Given the description of an element on the screen output the (x, y) to click on. 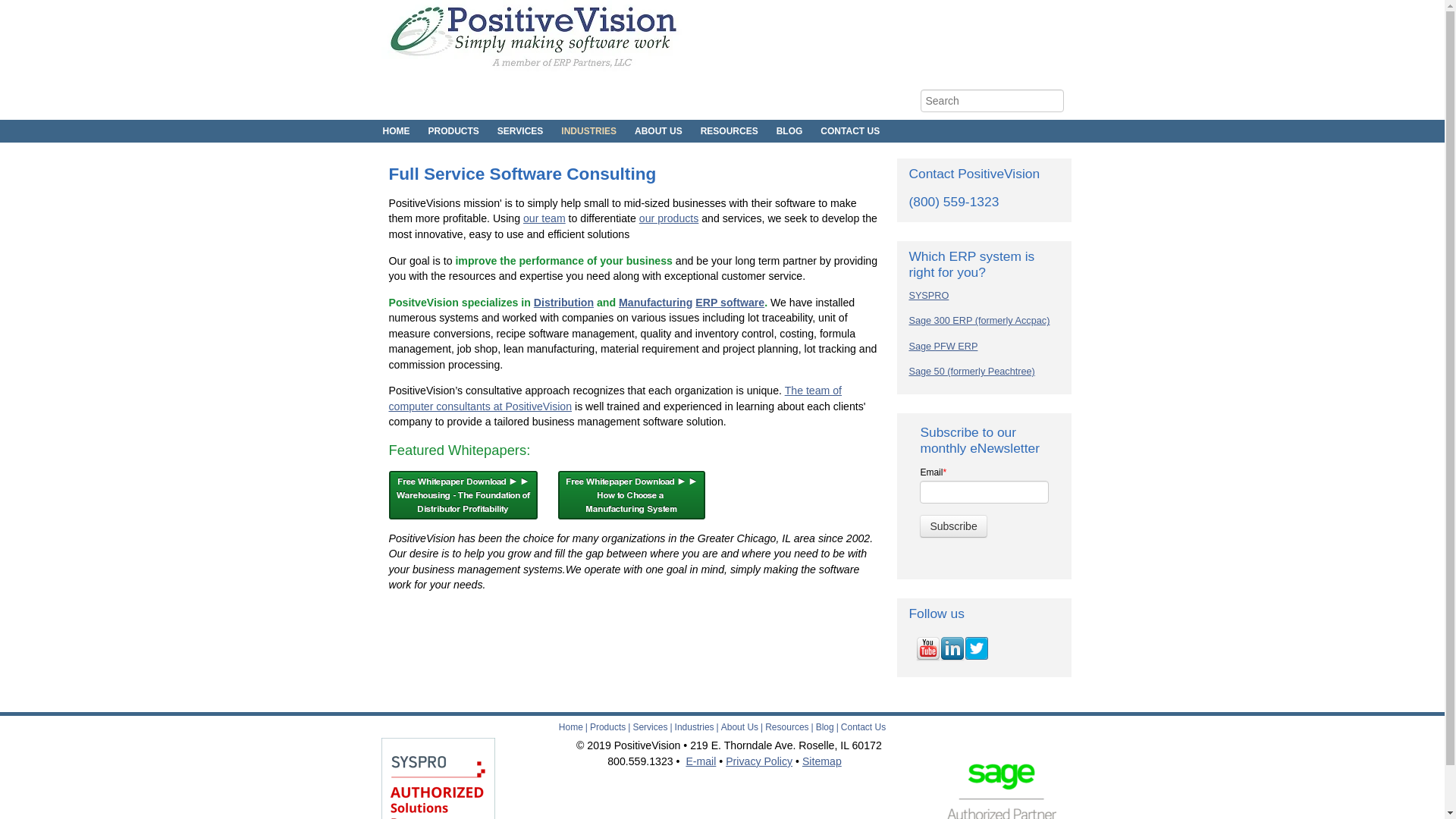
Manufacturing (655, 302)
Follow us on Twitter (975, 648)
CONTACT US (849, 130)
SERVICES (519, 130)
ABOUT US (658, 130)
Follow us on Linkedin (951, 648)
BLOG (789, 130)
PRODUCTS (453, 130)
Subscribe (953, 526)
our team (544, 218)
Distribution (564, 302)
Distribution (564, 302)
INDUSTRIES (588, 130)
SYSPRO (928, 295)
Manufacturing   (655, 302)
